Given the description of an element on the screen output the (x, y) to click on. 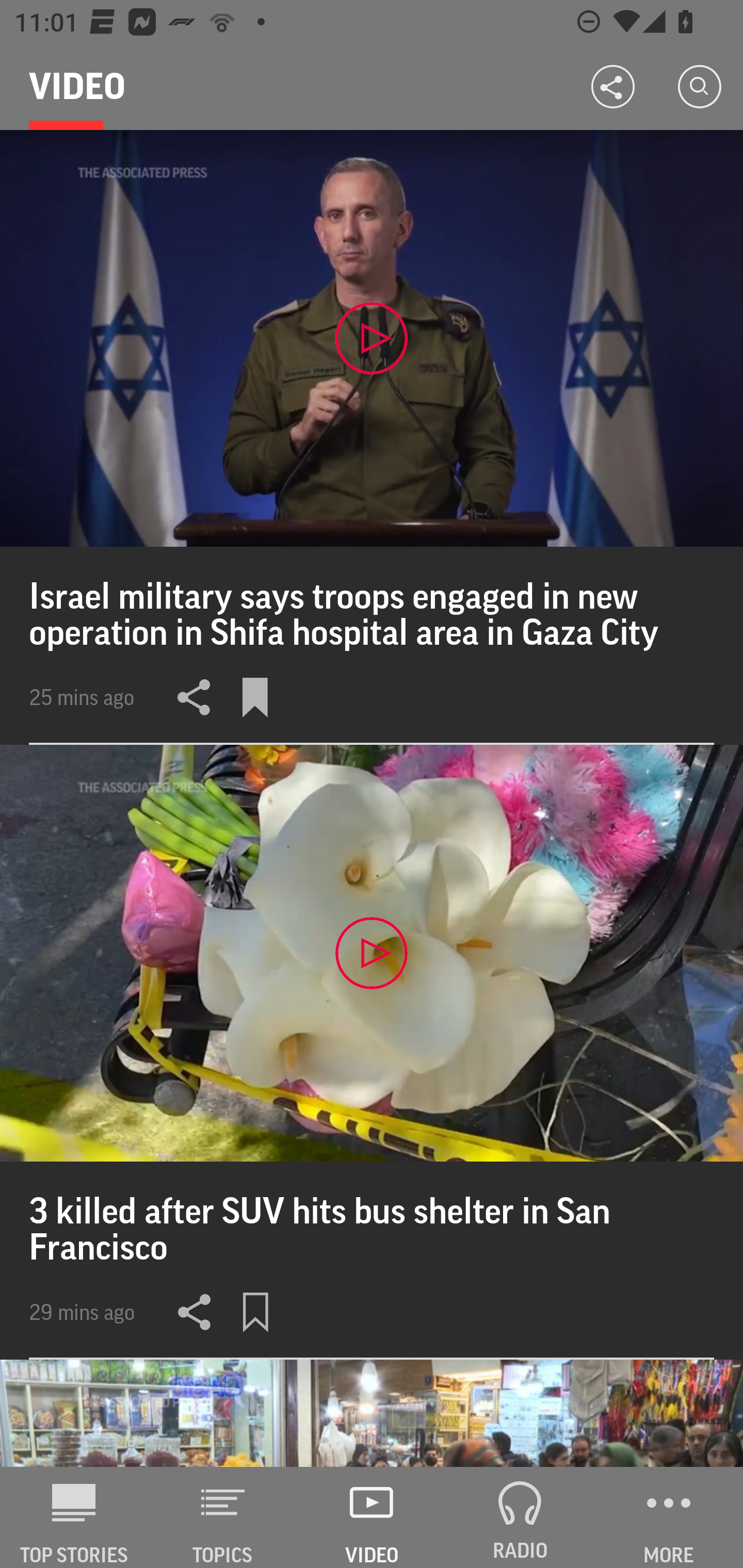
AP News TOP STORIES (74, 1517)
TOPICS (222, 1517)
VIDEO (371, 1517)
RADIO (519, 1517)
MORE (668, 1517)
